Given the description of an element on the screen output the (x, y) to click on. 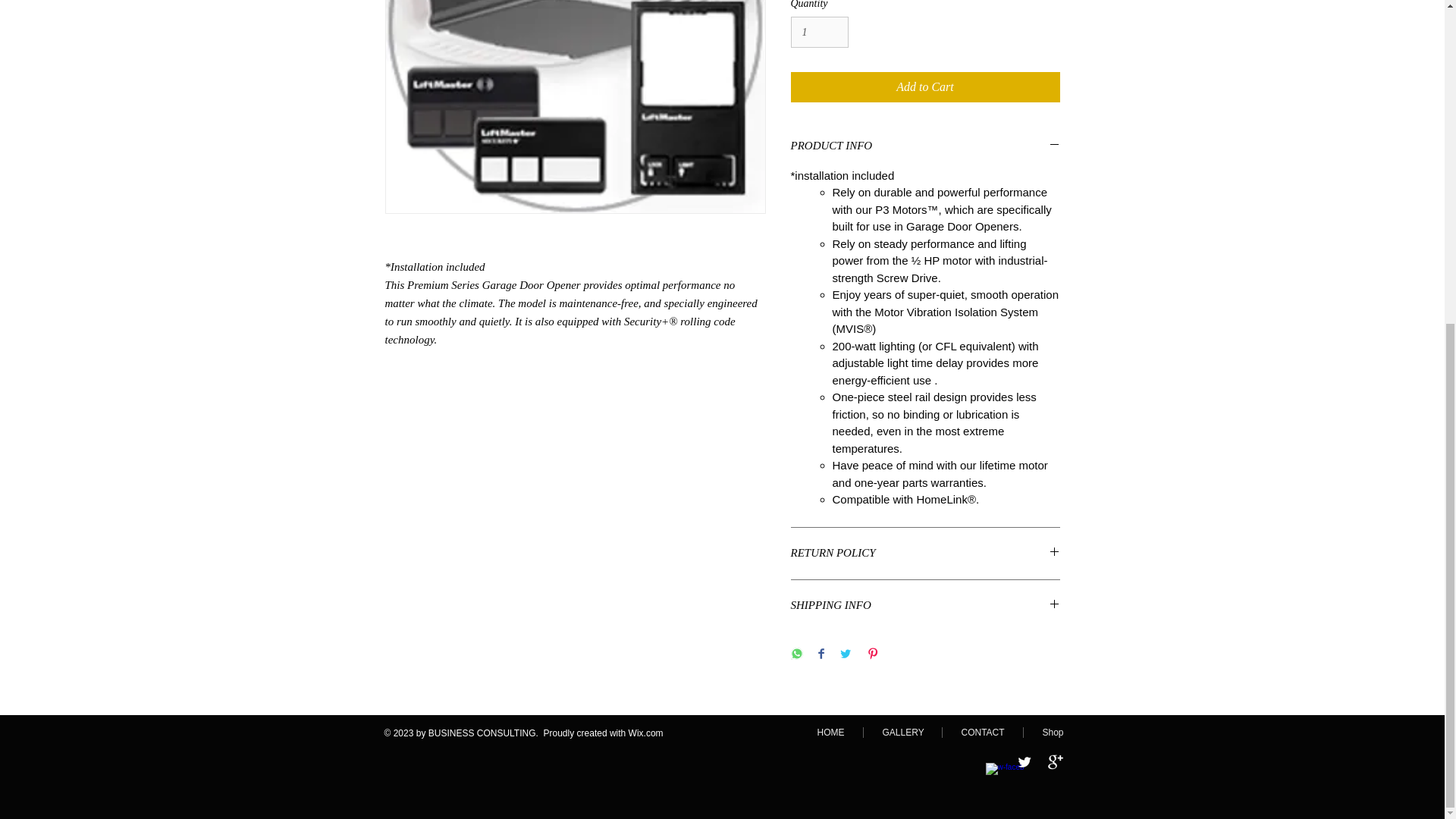
Wix.com (645, 733)
SHIPPING INFO (924, 606)
RETURN POLICY (924, 553)
HOME (829, 732)
GALLERY (901, 732)
Shop (1053, 732)
PRODUCT INFO (924, 146)
CONTACT (982, 732)
Add to Cart (924, 87)
1 (818, 31)
